Given the description of an element on the screen output the (x, y) to click on. 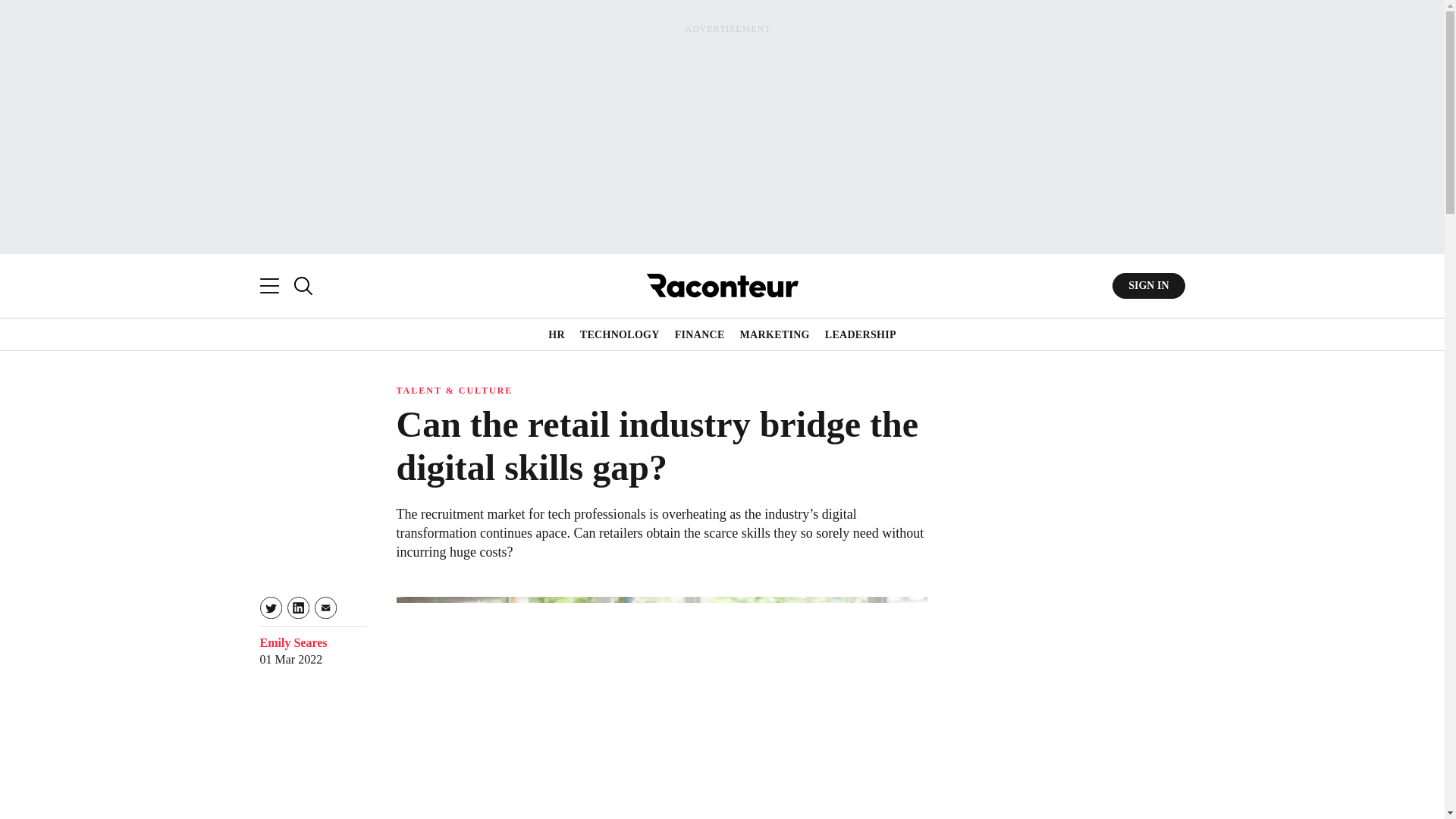
SIGN IN (1148, 285)
Emily Seares (292, 642)
TECHNOLOGY (619, 334)
Raconteur (721, 285)
MARKETING (774, 334)
LEADERSHIP (860, 334)
HR (556, 334)
FINANCE (700, 334)
